Given the description of an element on the screen output the (x, y) to click on. 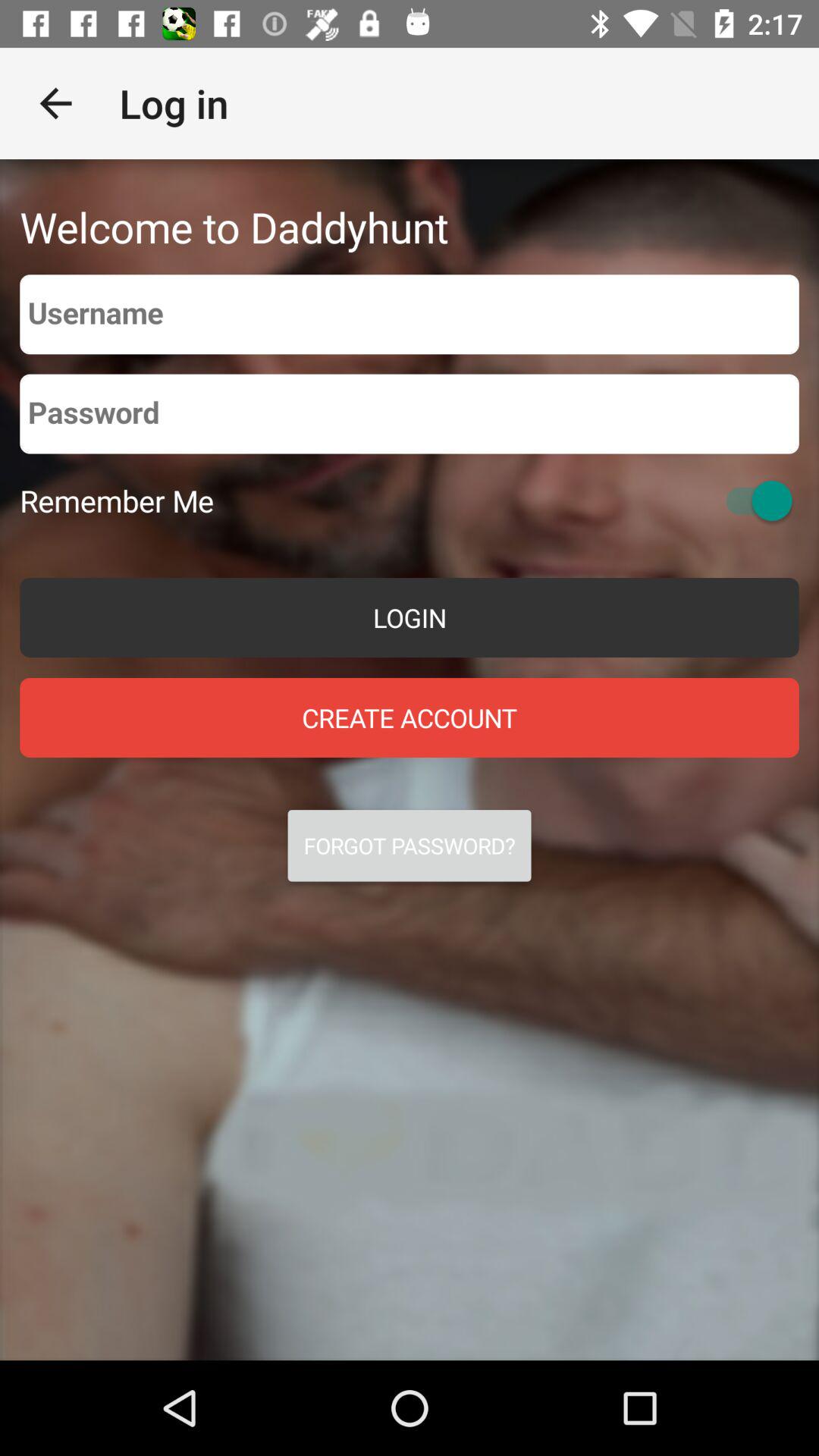
tap welcome to daddyhunt item (233, 226)
